Given the description of an element on the screen output the (x, y) to click on. 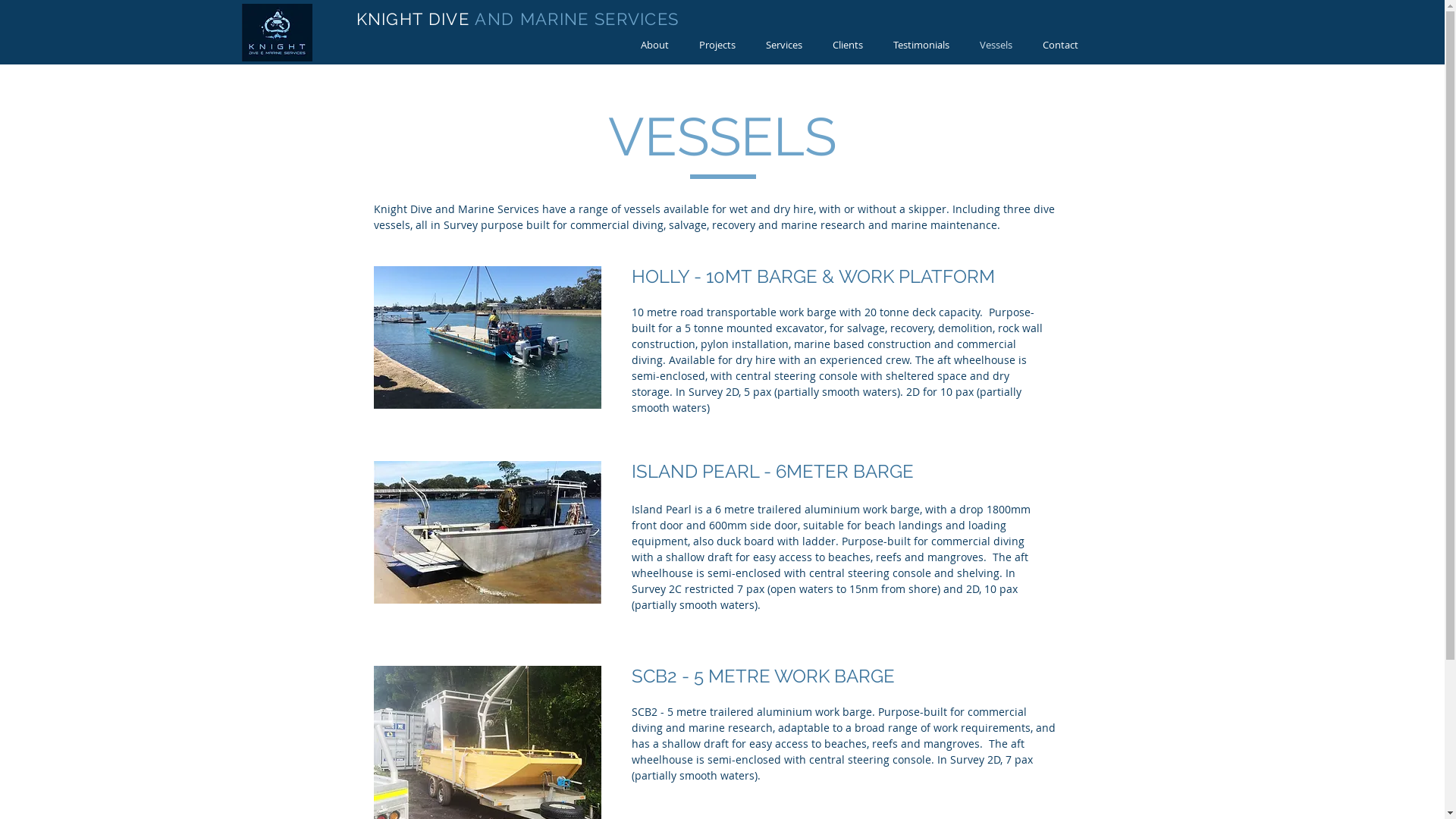
KNIGHT DIVE AND MARINE SERVICES Element type: text (517, 18)
Clients Element type: text (847, 44)
Vessels Element type: text (995, 44)
Projects Element type: text (717, 44)
Contact Element type: text (1059, 44)
About Element type: text (653, 44)
Testimonials Element type: text (921, 44)
Services Element type: text (783, 44)
